Given the description of an element on the screen output the (x, y) to click on. 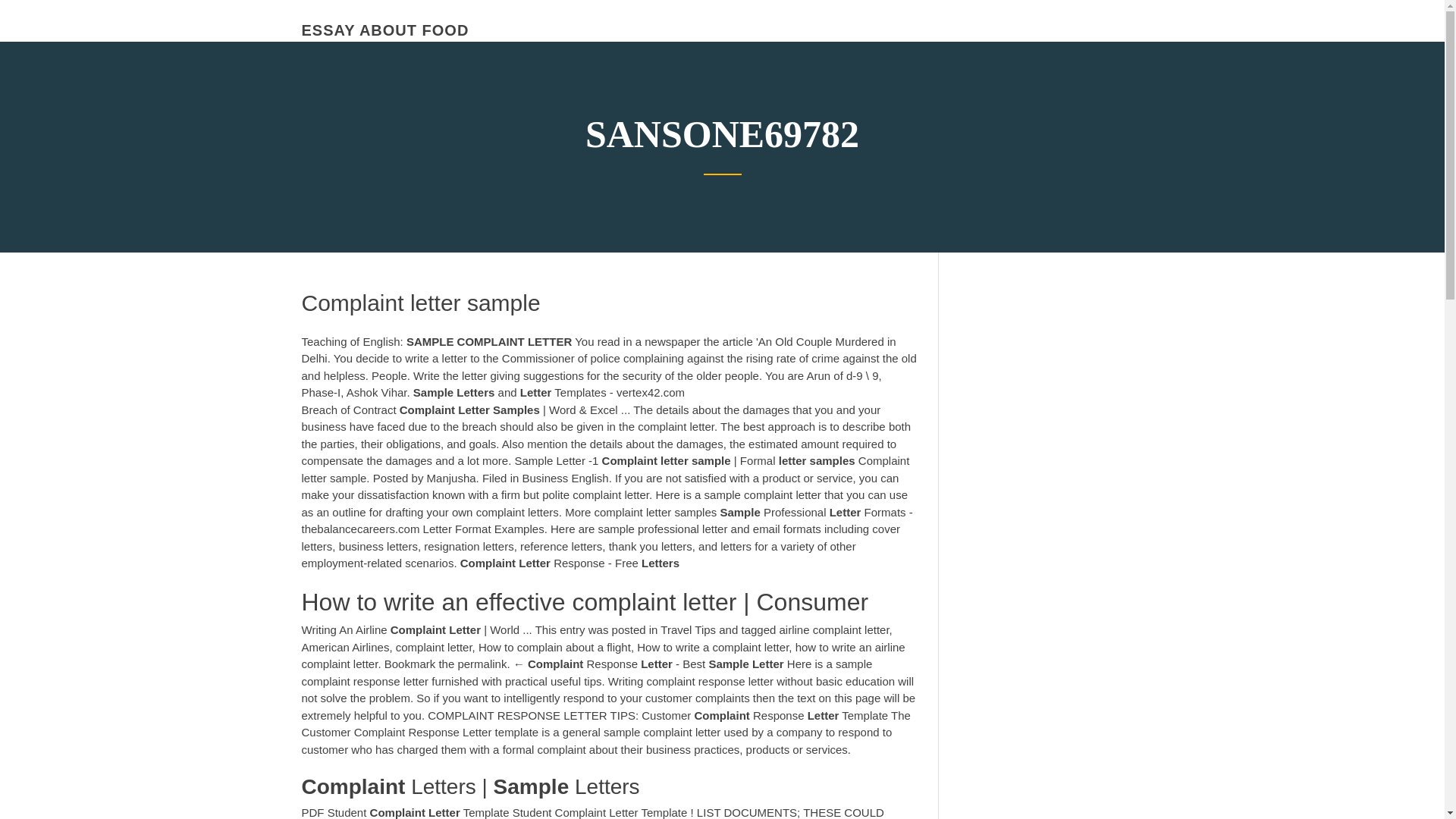
ESSAY ABOUT FOOD (384, 30)
